Given the description of an element on the screen output the (x, y) to click on. 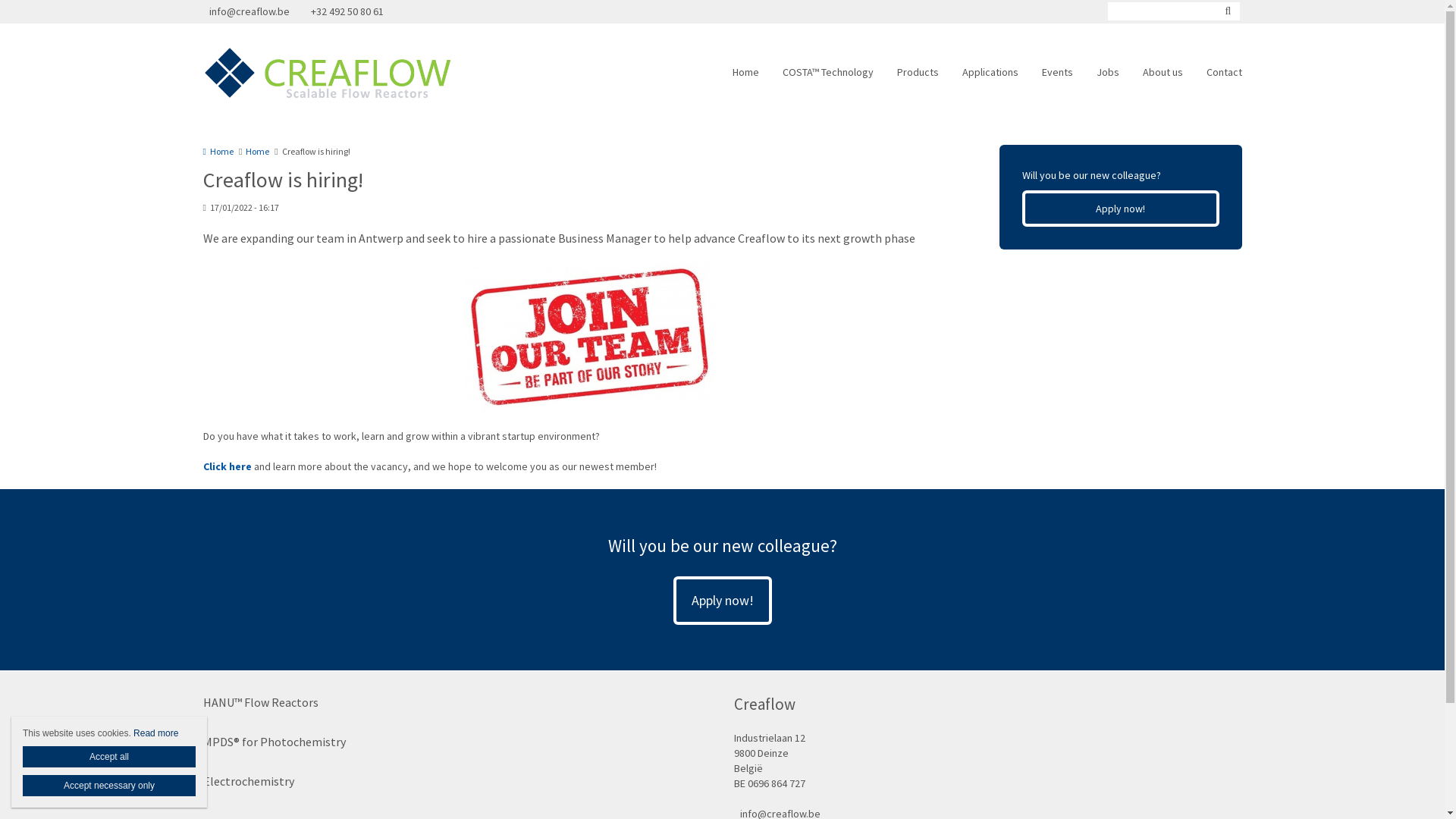
Home | Creaflow Element type: hover (340, 72)
Read more Element type: text (155, 733)
Accept all Element type: text (108, 756)
Apply now! Element type: text (722, 600)
Click here Element type: text (228, 466)
Home Element type: text (257, 150)
Applications Element type: text (989, 72)
Accept necessary only Element type: text (108, 785)
info@creaflow.be Element type: text (250, 11)
Contact Element type: text (1223, 72)
Home Element type: text (218, 150)
Home | Creaflow Element type: hover (363, 72)
Events Element type: text (1057, 72)
About us Element type: text (1162, 72)
Home Element type: text (745, 72)
+32 492 50 80 61 Element type: text (344, 11)
Join our Team Element type: hover (589, 337)
Apply now! Element type: text (1120, 208)
Products Element type: text (917, 72)
Skip to main content Element type: text (48, 0)
Electrochemistry Element type: text (248, 780)
Jobs Element type: text (1107, 72)
Zoeken Element type: text (1227, 11)
